Given the description of an element on the screen output the (x, y) to click on. 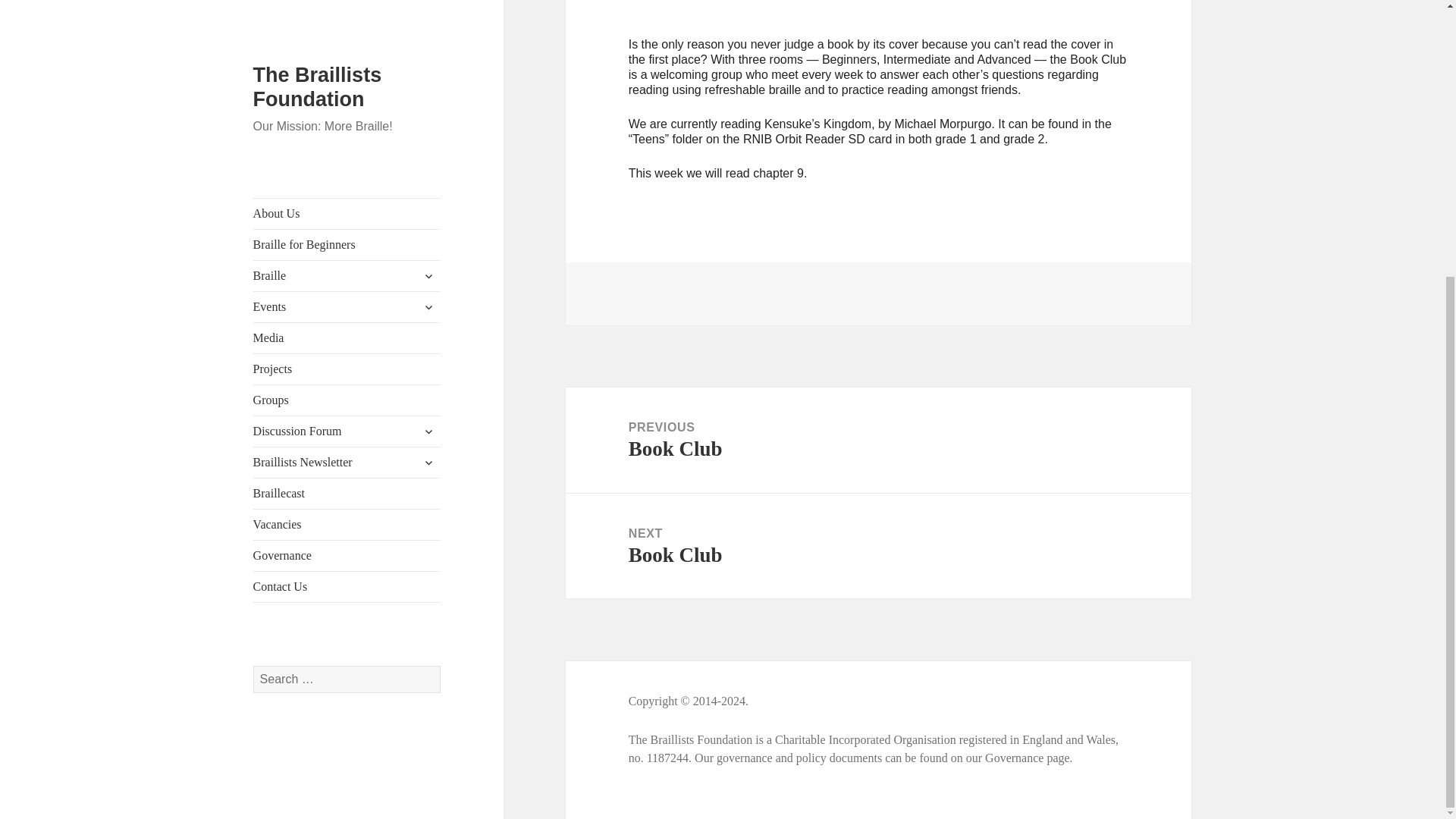
Braillecast (347, 82)
Braillists Newsletter (347, 51)
Vacancies (347, 114)
Discussion Forum (347, 20)
Groups (347, 2)
Contact Us (347, 176)
expand child menu (428, 52)
Governance (347, 145)
expand child menu (428, 21)
